Given the description of an element on the screen output the (x, y) to click on. 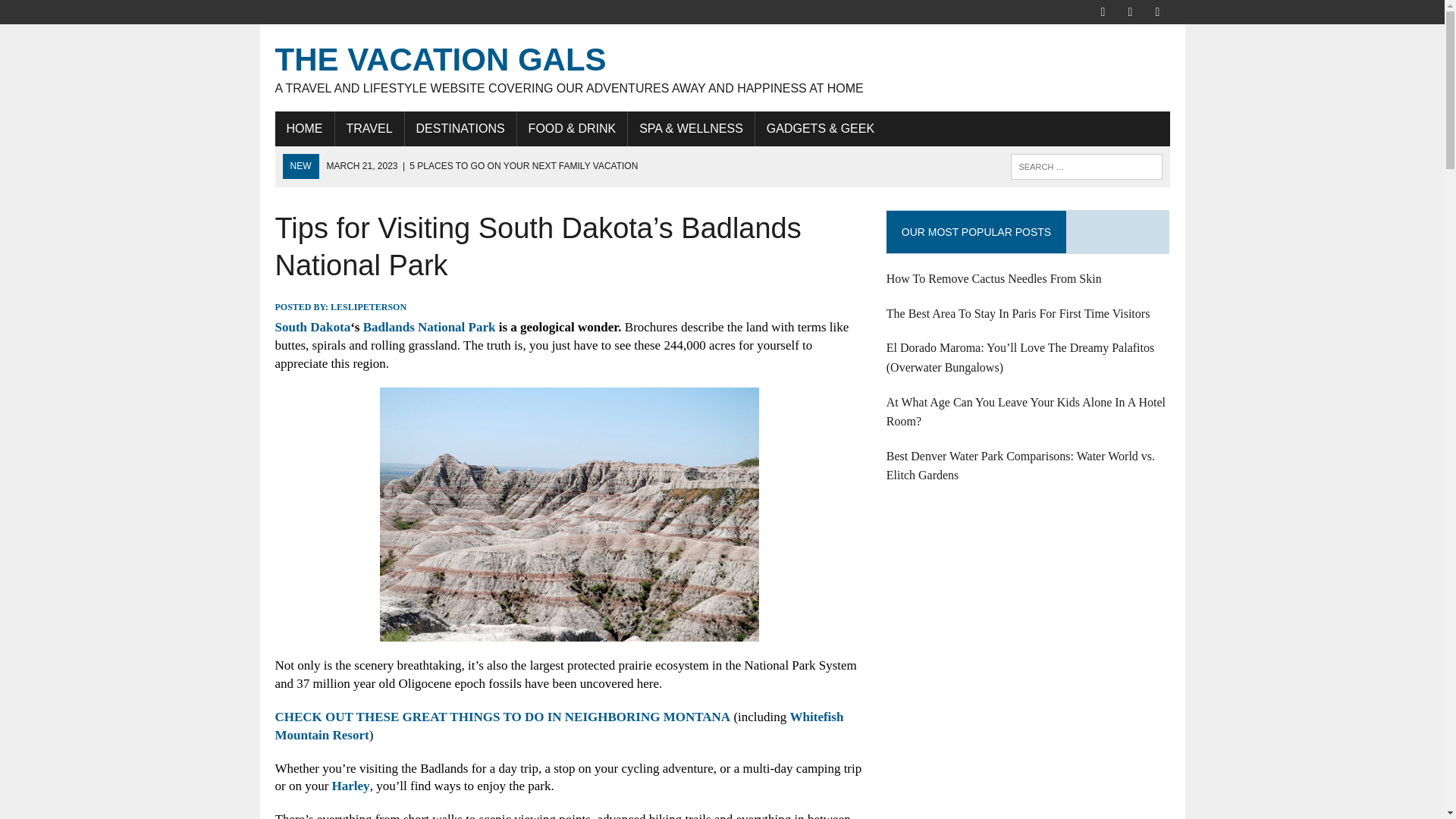
5 Places To Go On Your Next Family Vacation (481, 165)
Badlands (569, 514)
The Vacation Gals (722, 67)
